Given the description of an element on the screen output the (x, y) to click on. 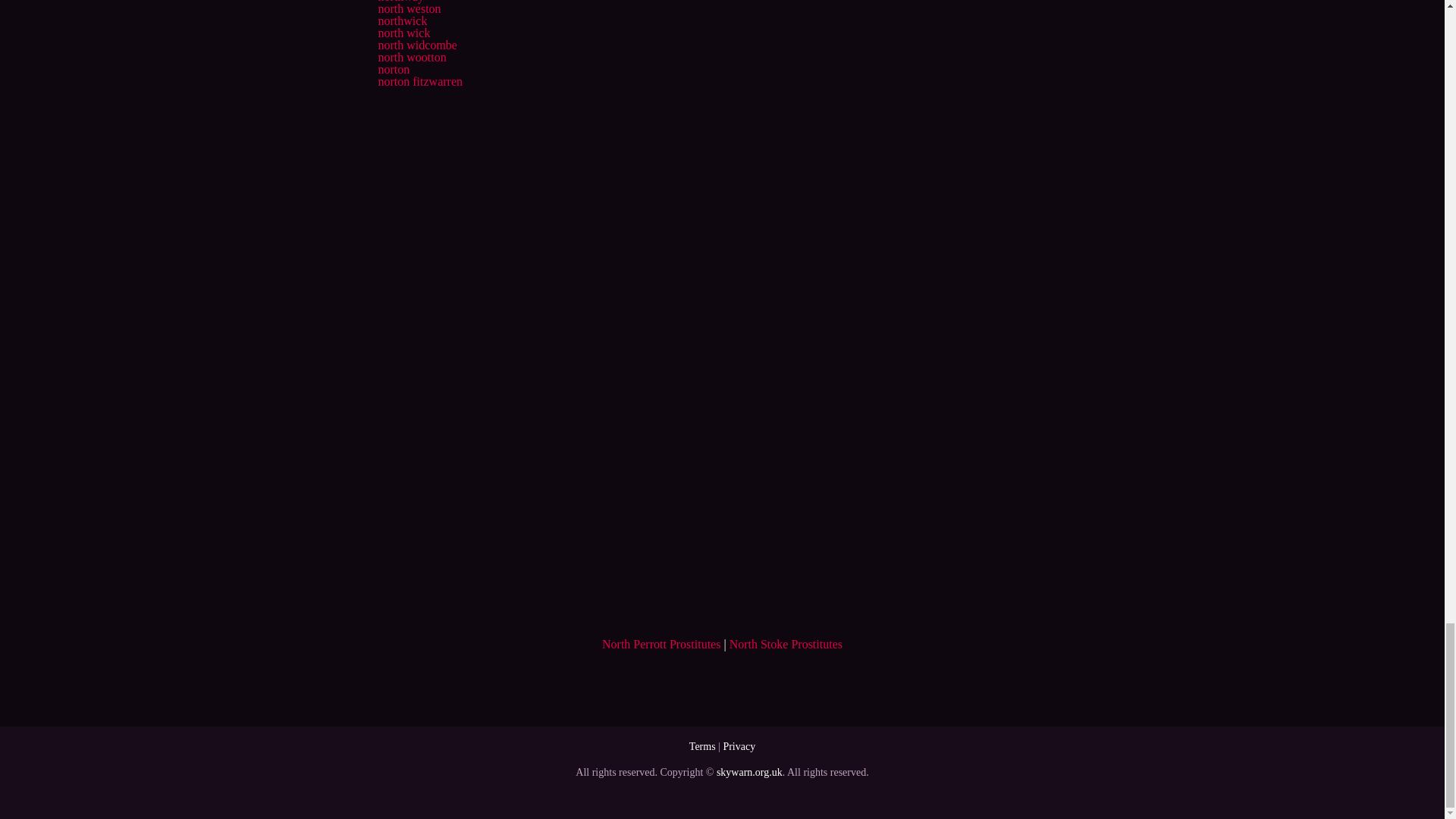
norton fitzwarren (420, 81)
Privacy (738, 746)
Terms (702, 746)
northway (400, 1)
north widcombe (417, 44)
North Perrott Prostitutes (661, 644)
north wootton (411, 56)
Terms (702, 746)
north weston (409, 8)
Privacy (738, 746)
